Given the description of an element on the screen output the (x, y) to click on. 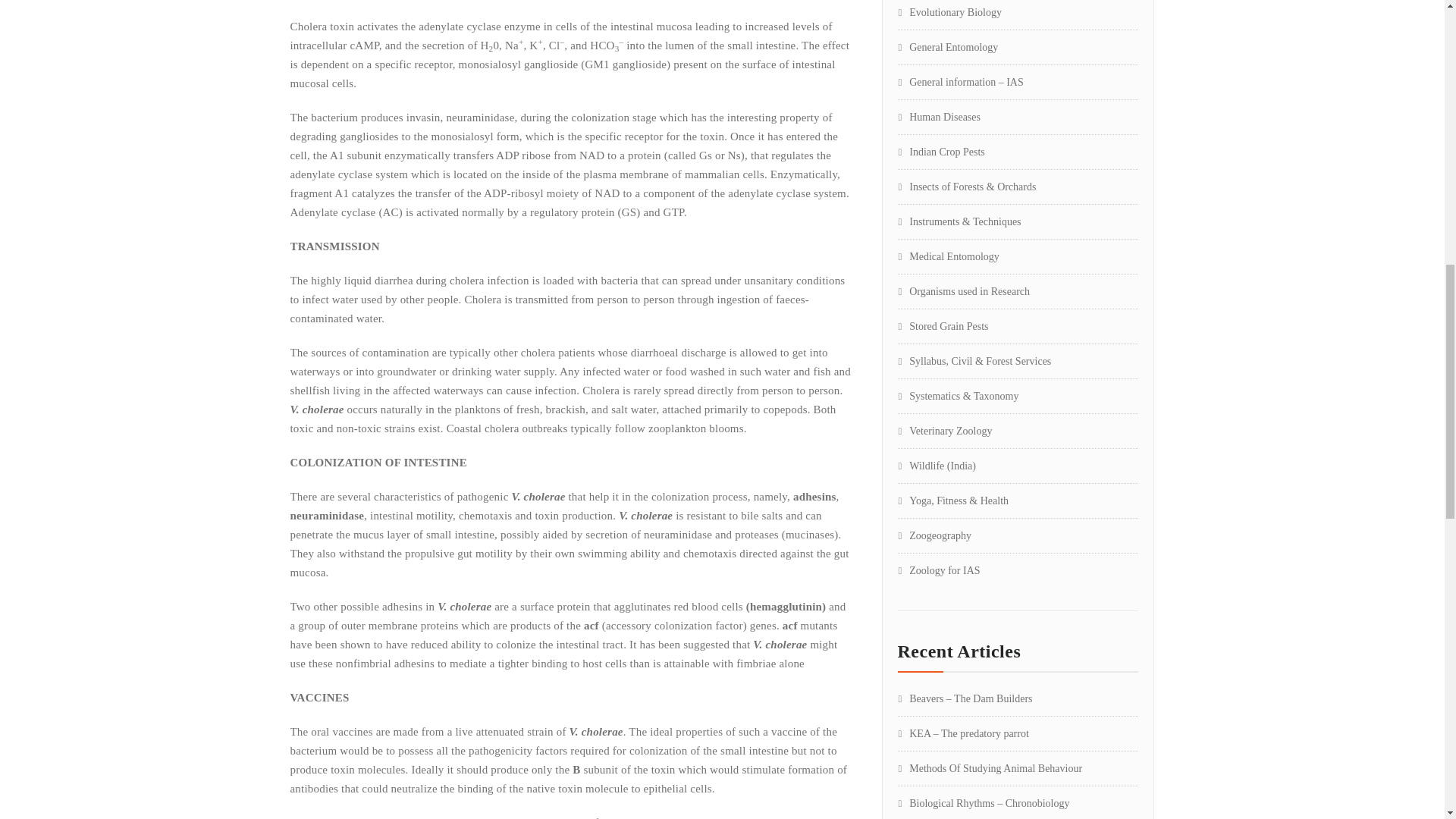
Evolutionary Biology (949, 12)
Stored Grain Pests (943, 326)
Veterinary Zoology (945, 430)
Medical Entomology (948, 256)
General Entomology (948, 47)
Organisms used in Research (964, 291)
Indian Crop Pests (941, 152)
Human Diseases (938, 116)
